Given the description of an element on the screen output the (x, y) to click on. 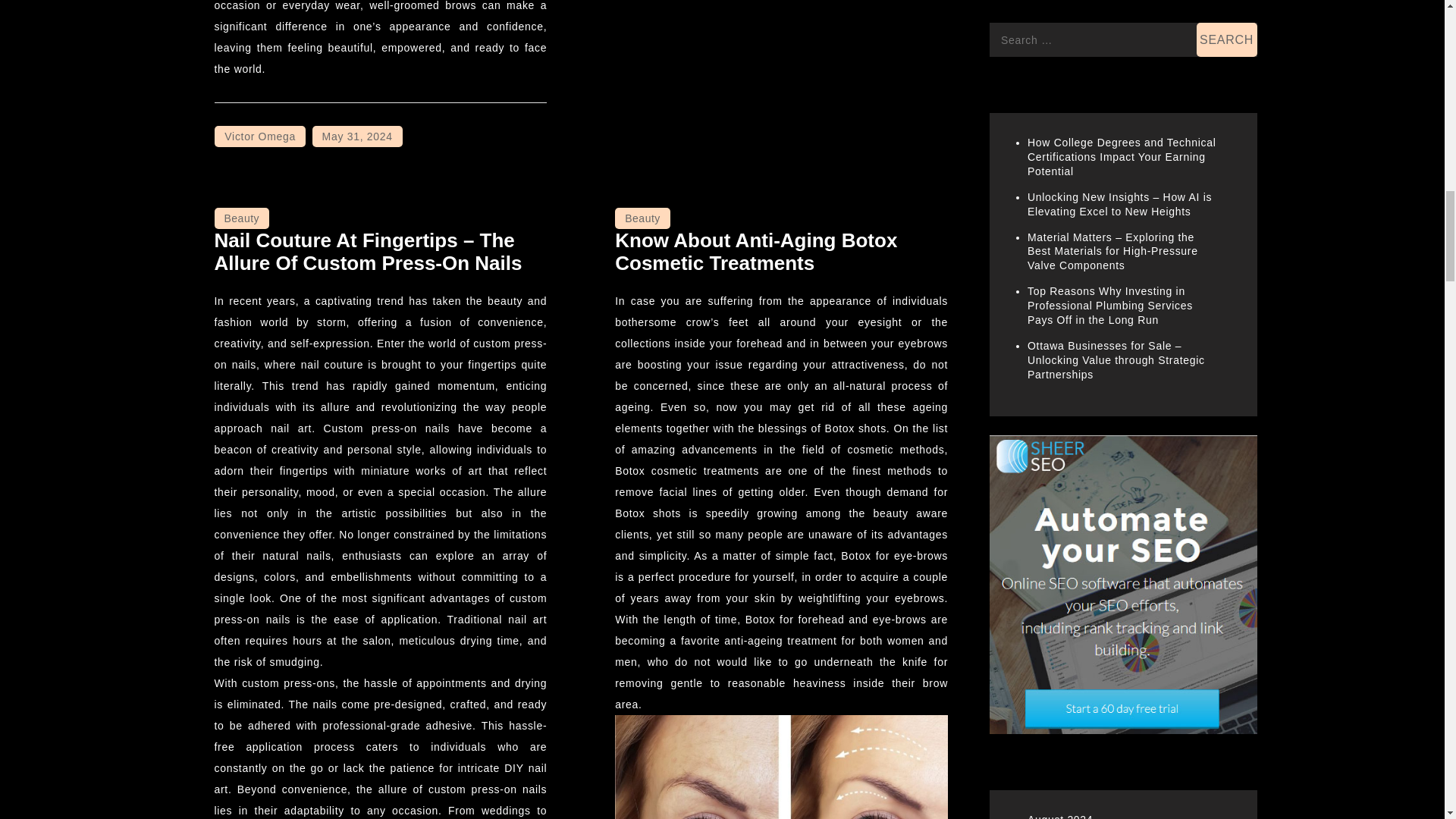
Victor Omega (259, 136)
May 31, 2024 (358, 136)
Beauty (241, 218)
Know About Anti-Aging Botox Cosmetic Treatments (755, 251)
Beauty (641, 218)
